Given the description of an element on the screen output the (x, y) to click on. 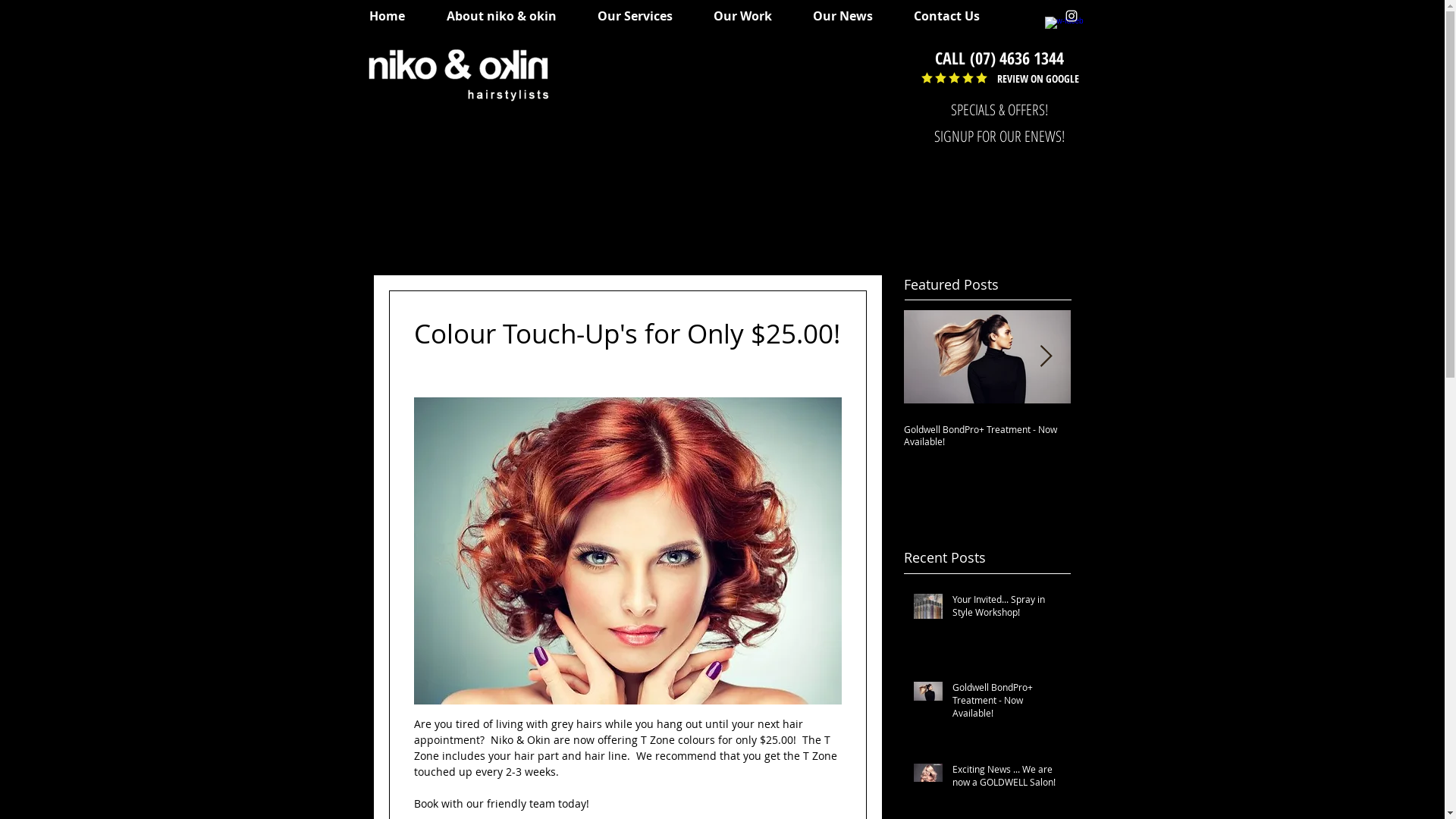
Contact Us Element type: text (953, 15)
REVIEW ON GOOGLE Element type: text (1037, 78)
Our Work Element type: text (749, 15)
Goldwell BondPro+ Treatment - Now Available! Element type: text (1006, 702)
Your Invited... Spray in Style Workshop! Element type: text (1006, 608)
Our News Element type: text (849, 15)
Home Element type: text (394, 15)
Goldwell BondPro+ Treatment - Now Available! Element type: text (1018, 435)
Exciting News ... We are now a GOLDWELL Salon! Element type: text (1006, 778)
Your Invited... Spray in Style Workshop! Element type: text (856, 429)
SIGNUP FOR OUR ENEWS! Element type: text (998, 136)
SPECIALS & OFFERS! Element type: text (998, 109)
About niko & okin Element type: text (508, 15)
